Given the description of an element on the screen output the (x, y) to click on. 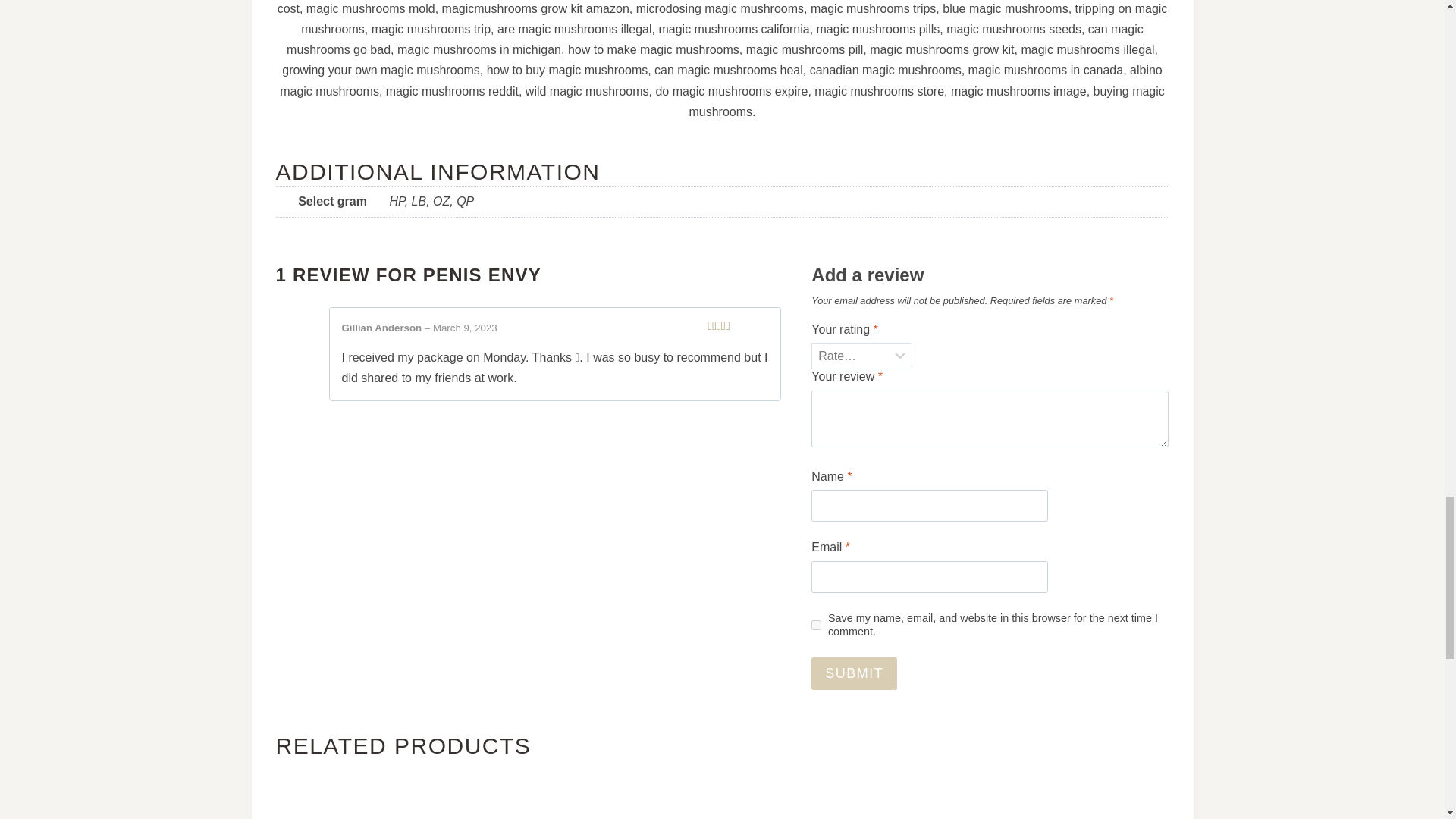
Submit (853, 673)
yes (815, 624)
